Given the description of an element on the screen output the (x, y) to click on. 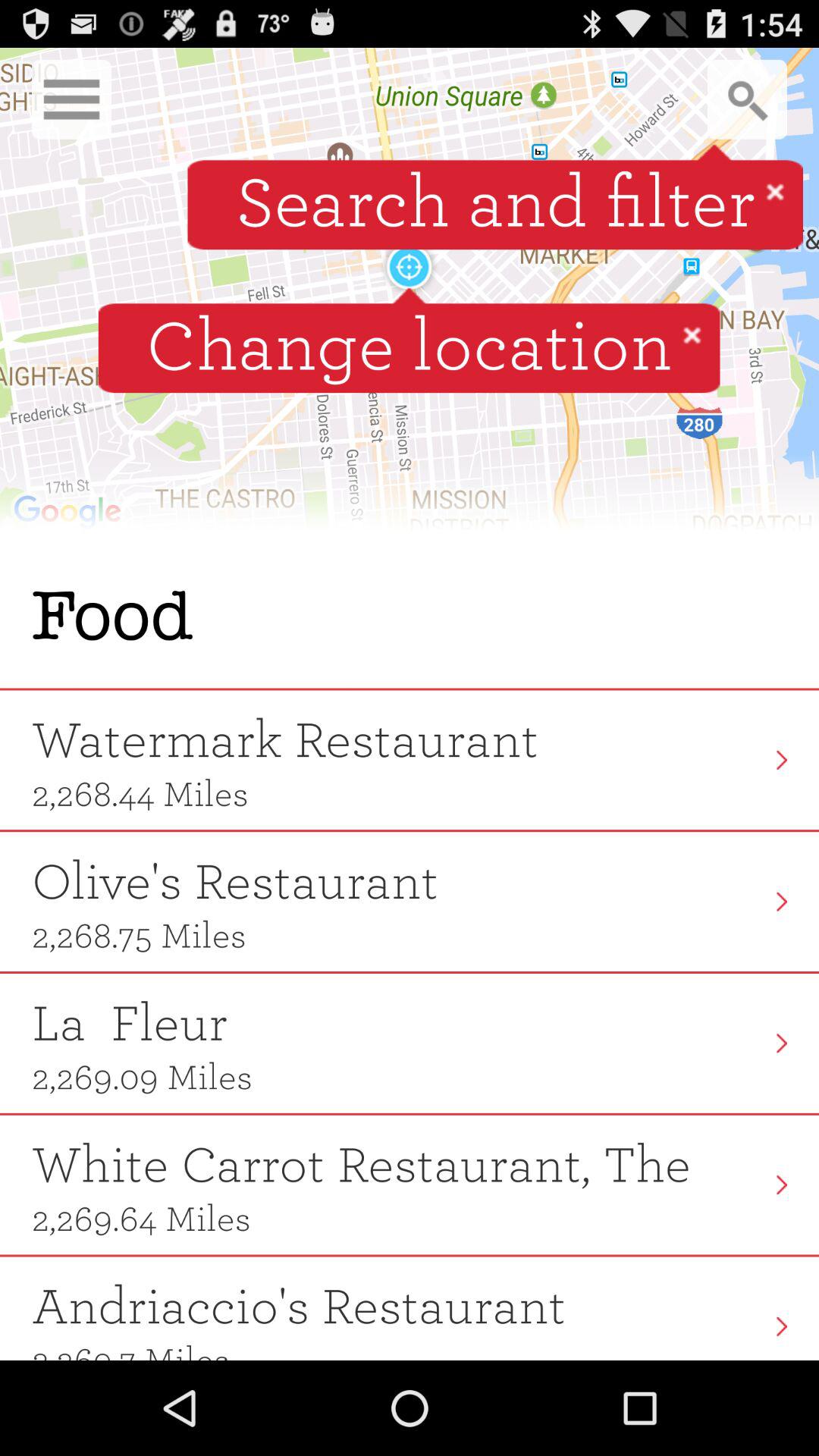
cancel the search and filter option (775, 191)
